Given the description of an element on the screen output the (x, y) to click on. 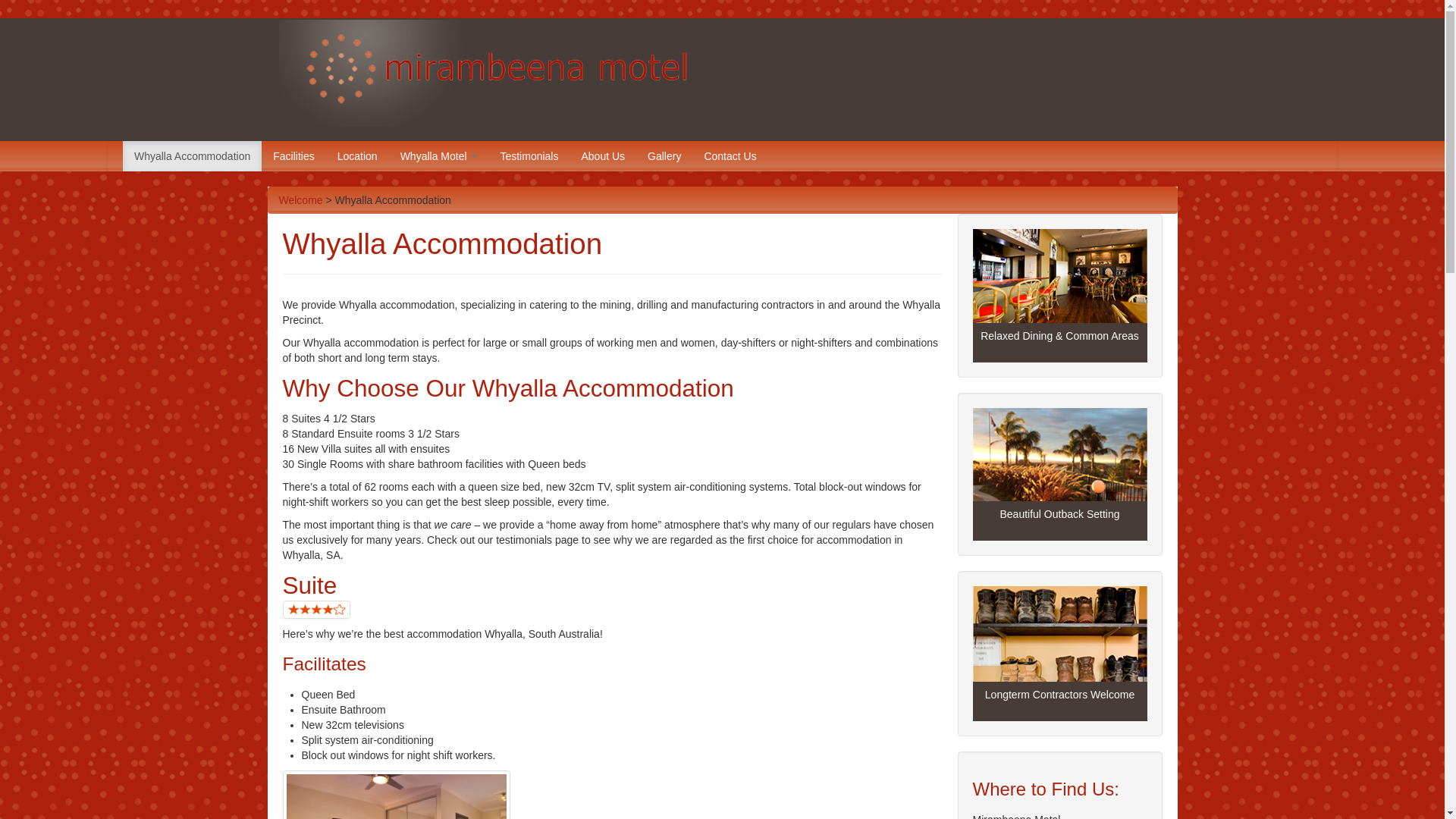
Whyalla Motel Element type: text (439, 156)
Welcome Element type: text (301, 200)
Gallery Element type: text (664, 156)
Mirambeena Motel Element type: text (120, 40)
Facilities Element type: text (293, 156)
Skip to primary content Element type: text (54, 148)
Testimonials Element type: text (528, 156)
Mirambeena Motel Element type: hover (722, 72)
About Us Element type: text (602, 156)
Contact Us Element type: text (729, 156)
Whyalla Accommodation Element type: text (191, 156)
Location Element type: text (357, 156)
Skip to secondary content Element type: text (61, 148)
